Given the description of an element on the screen output the (x, y) to click on. 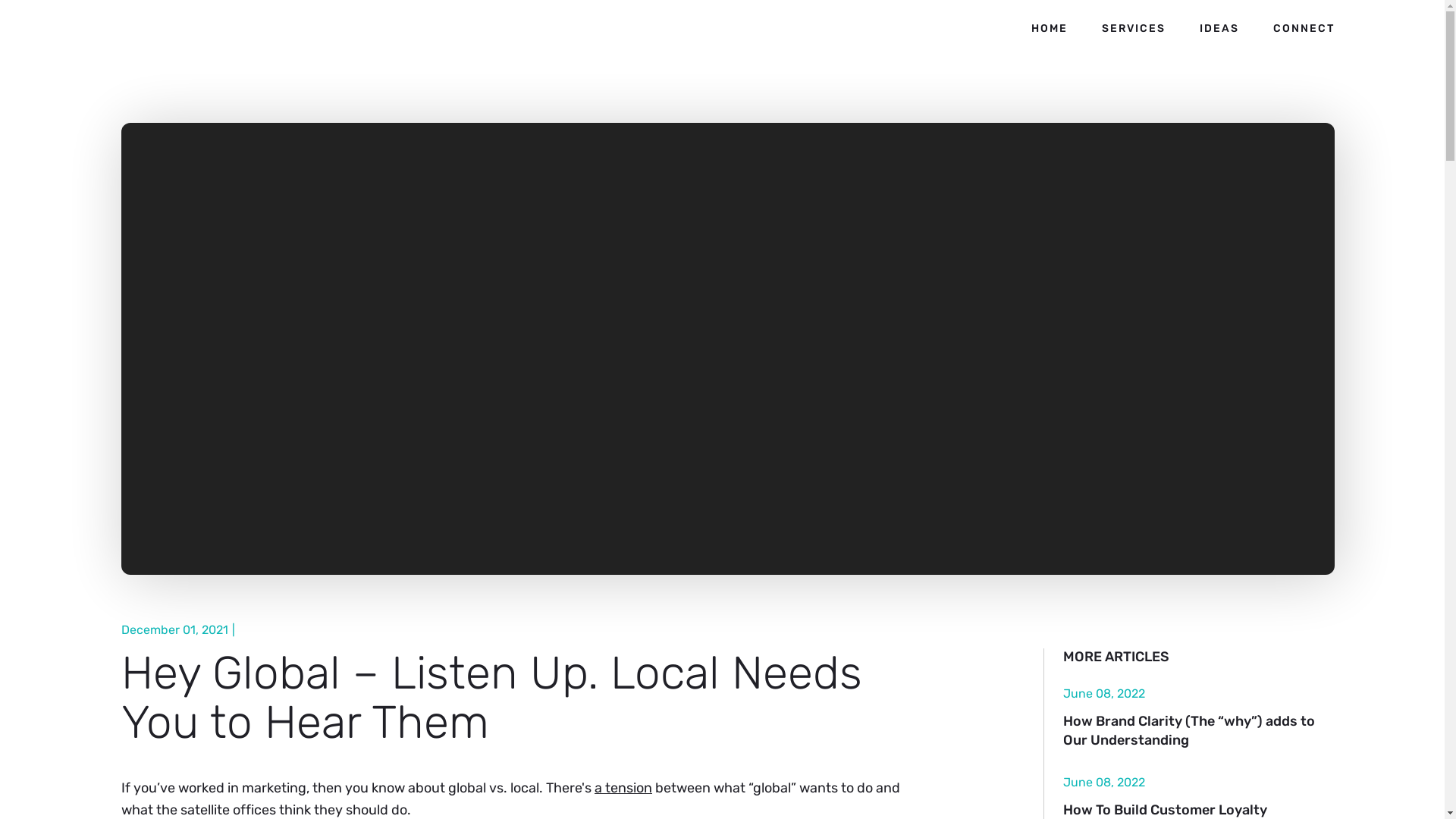
HOME Element type: text (1049, 28)
SERVICES Element type: text (1133, 28)
IDEAS Element type: text (1219, 28)
a tension Element type: text (623, 787)
CONNECT Element type: text (1303, 28)
